Given the description of an element on the screen output the (x, y) to click on. 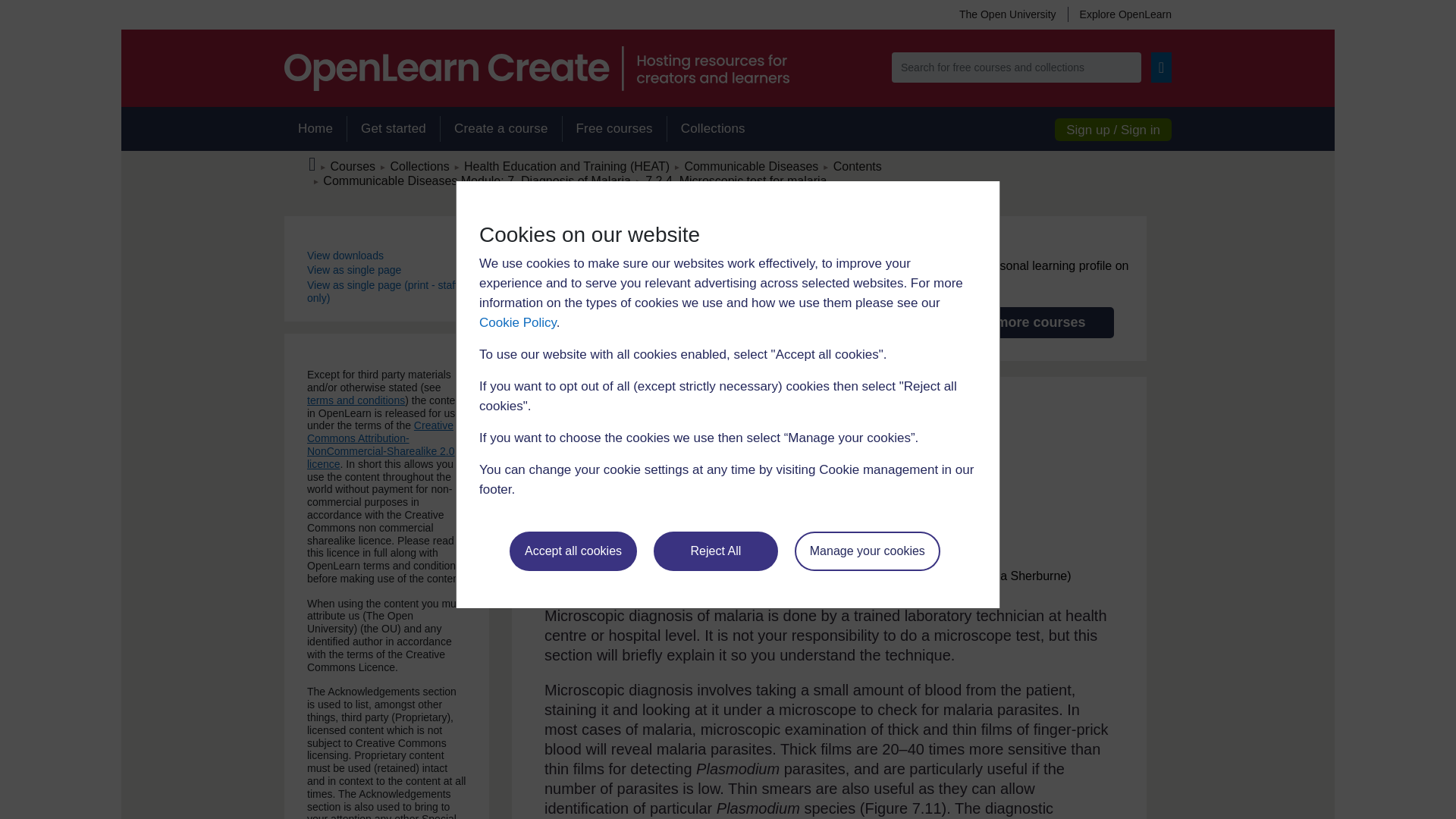
Home (314, 128)
Explore OpenLearn (1119, 14)
SC Web Editor (476, 180)
OpenLearn Create (536, 67)
Cookie Policy (517, 322)
Manage your cookies (867, 550)
The Open University (1007, 14)
Reject All (715, 550)
Get started (392, 128)
Search (1161, 67)
Search (1161, 67)
Explore OpenLearn (1119, 14)
The Open University (1007, 14)
Create a course (500, 128)
Free courses (614, 128)
